Given the description of an element on the screen output the (x, y) to click on. 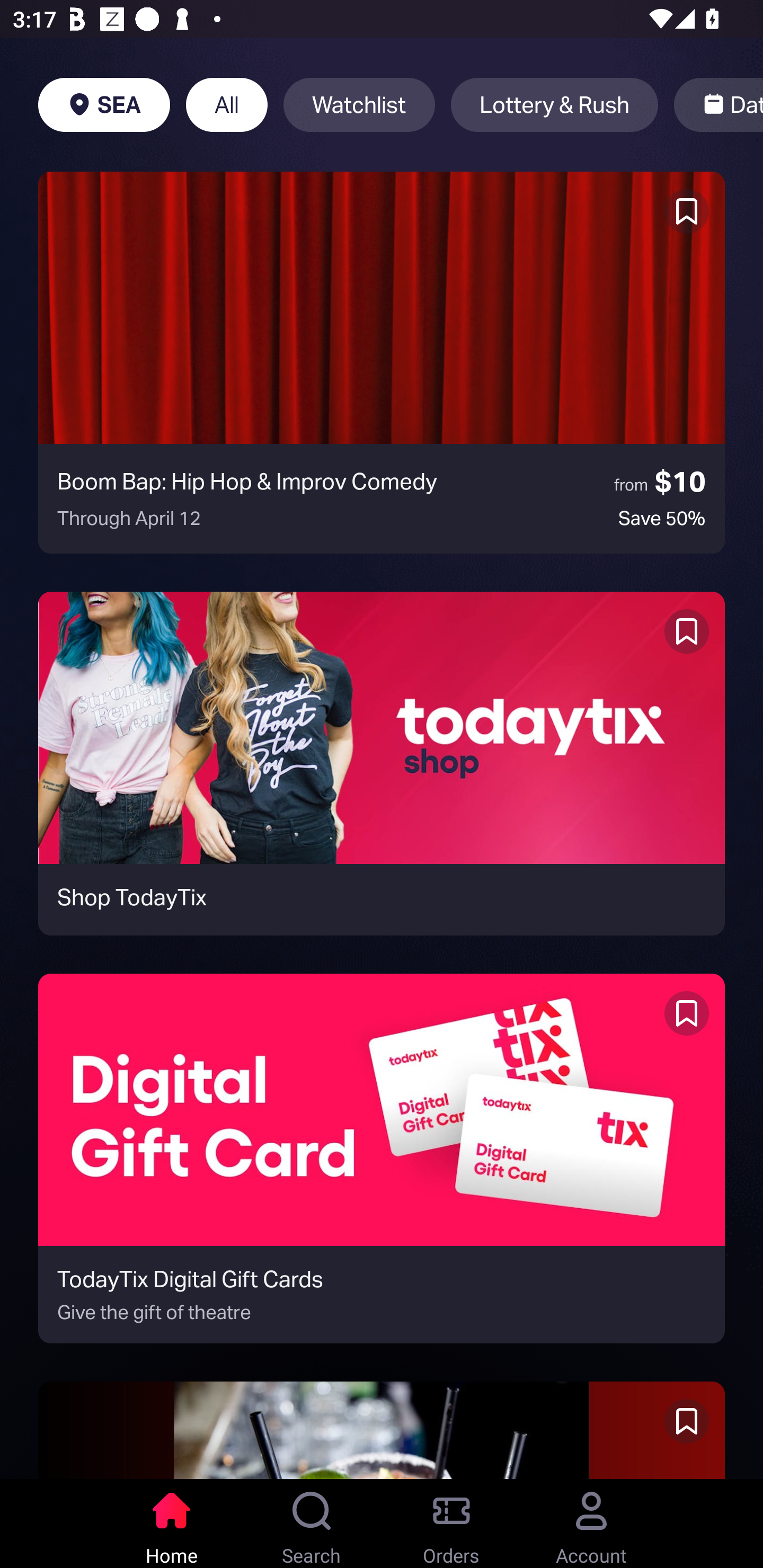
SEA (104, 104)
All (226, 104)
Watchlist (358, 104)
Lottery & Rush (553, 104)
Shop TodayTix (381, 763)
Search (311, 1523)
Orders (451, 1523)
Account (591, 1523)
